Given the description of an element on the screen output the (x, y) to click on. 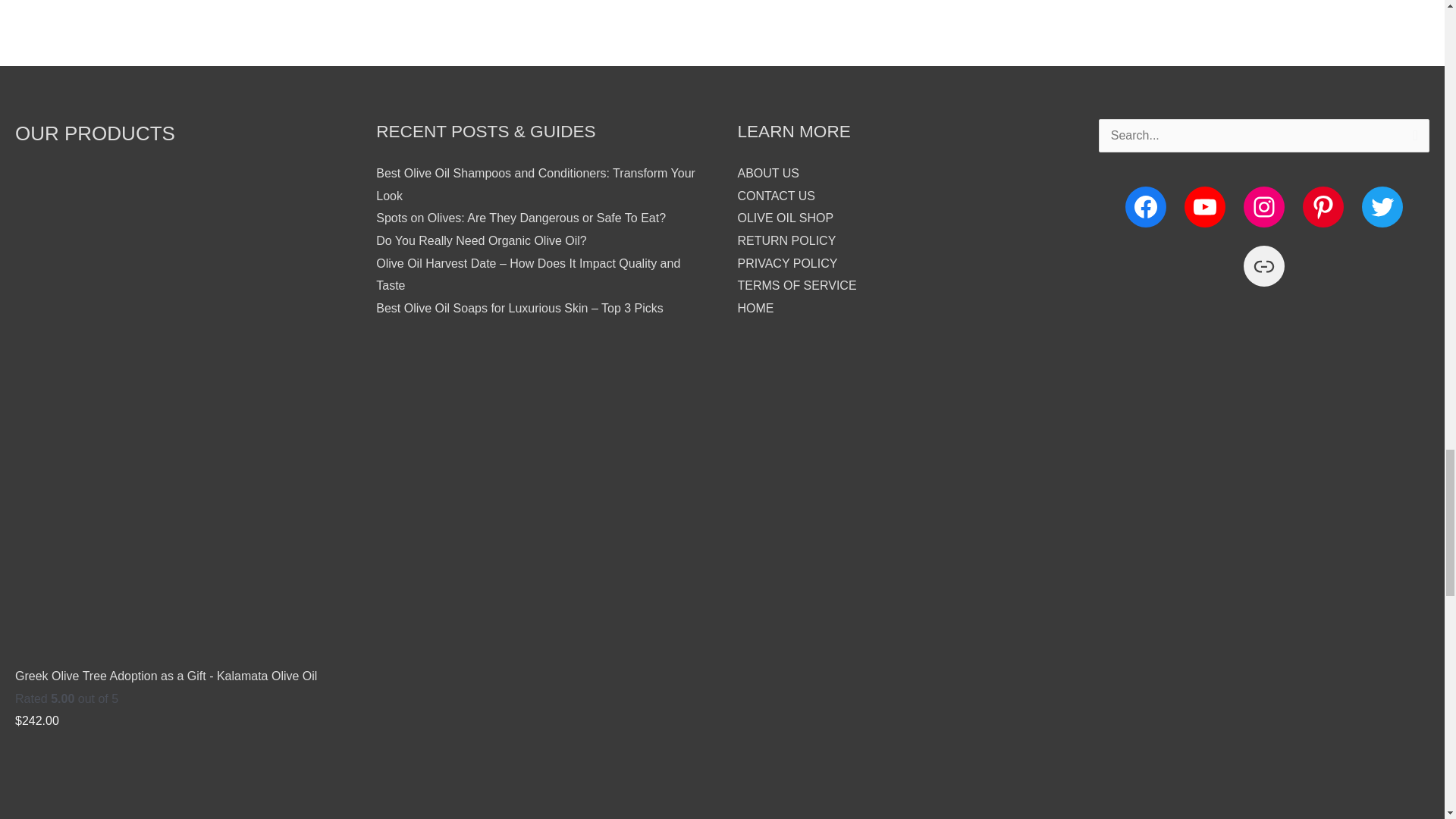
YouTube (1205, 206)
Instagram (1263, 206)
Search (1411, 139)
Spots on Olives: Are They Dangerous or Safe To Eat? (520, 217)
PRIVACY POLICY (786, 263)
Do You Really Need Organic Olive Oil? (480, 240)
HOME (754, 308)
Search (1411, 139)
Facebook (1145, 206)
RETURN POLICY (785, 240)
OLIVE OIL SHOP (784, 217)
Pinterest (1323, 206)
Search (1411, 139)
TERMS OF SERVICE (796, 285)
